Given the description of an element on the screen output the (x, y) to click on. 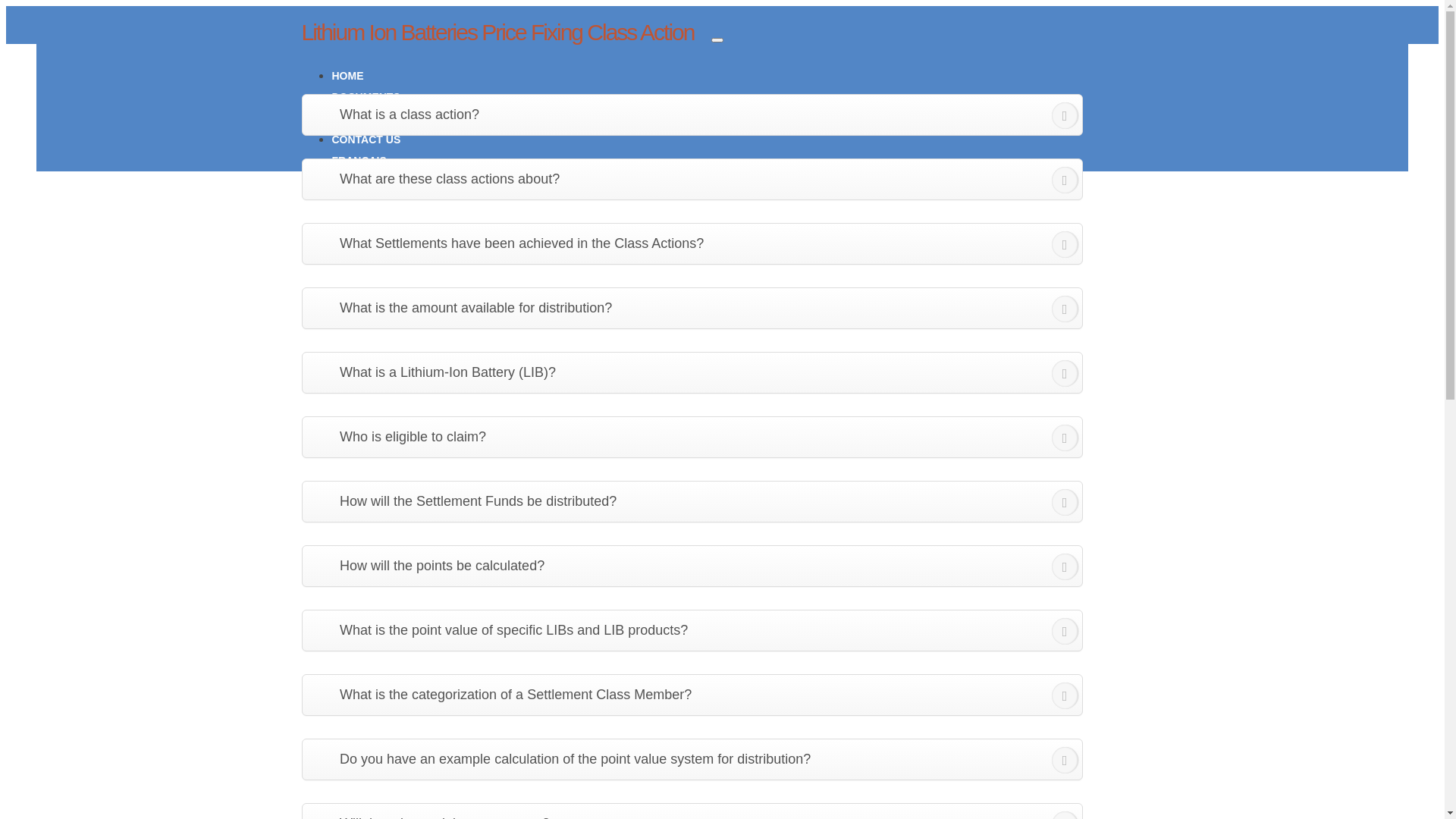
FAQ Element type: text (343, 118)
Lithium Ion Batteries Price Fixing Class Action Element type: text (497, 31)
FRANCAIS Element type: text (359, 160)
HOME Element type: text (348, 75)
DOCUMENTS Element type: text (366, 97)
CONTACT US Element type: text (366, 139)
